Given the description of an element on the screen output the (x, y) to click on. 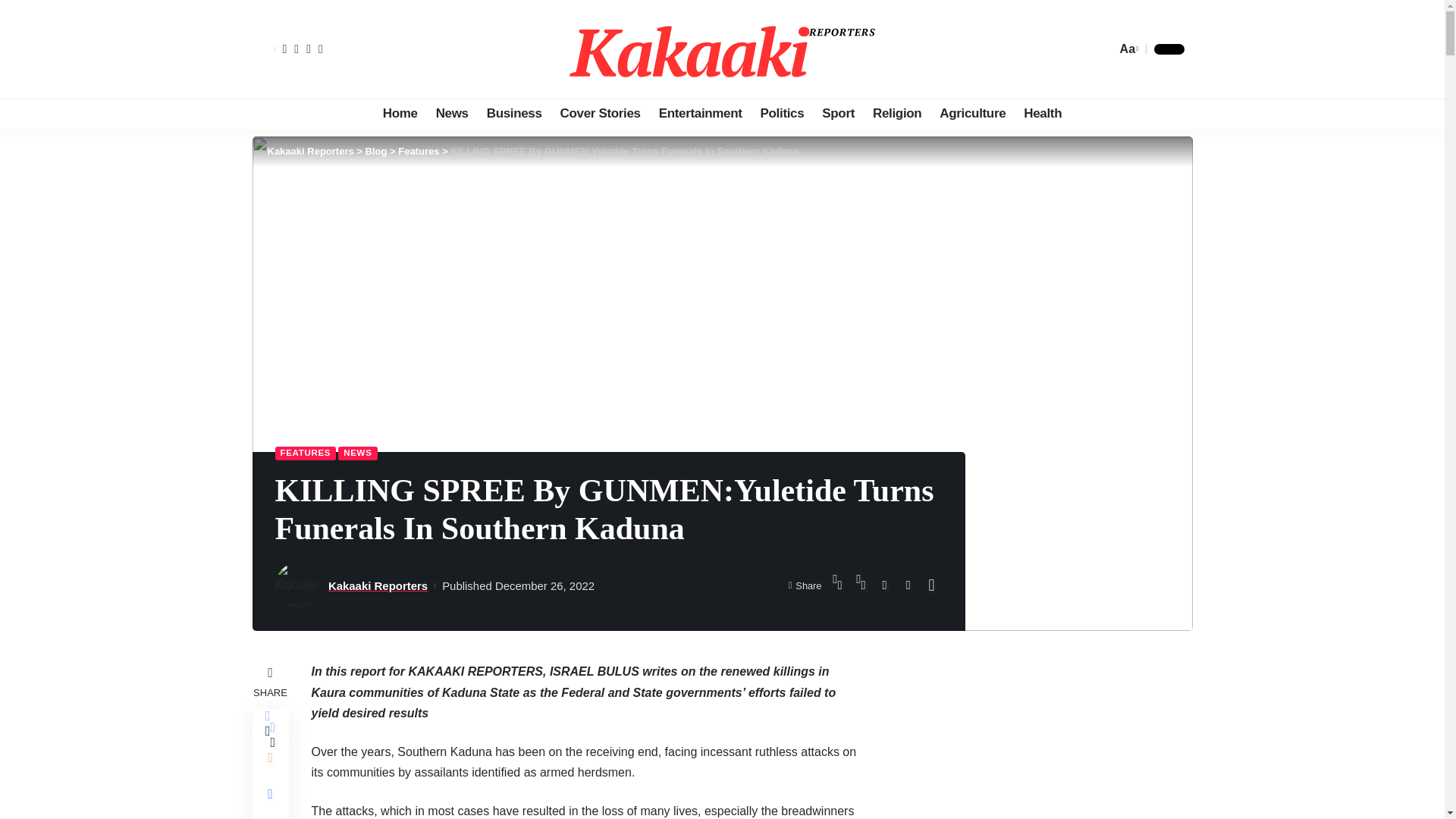
Business (514, 113)
Cover Stories (600, 113)
News (451, 113)
Health (1042, 113)
Go to Kakaaki Reporters. (309, 151)
Kakaaki Reporters (721, 48)
Agriculture (972, 113)
Religion (896, 113)
Politics (782, 113)
Aa (1127, 48)
Go to Blog. (376, 151)
Go to the Features Category archives. (418, 151)
Home (400, 113)
Entertainment (700, 113)
Sport (837, 113)
